Given the description of an element on the screen output the (x, y) to click on. 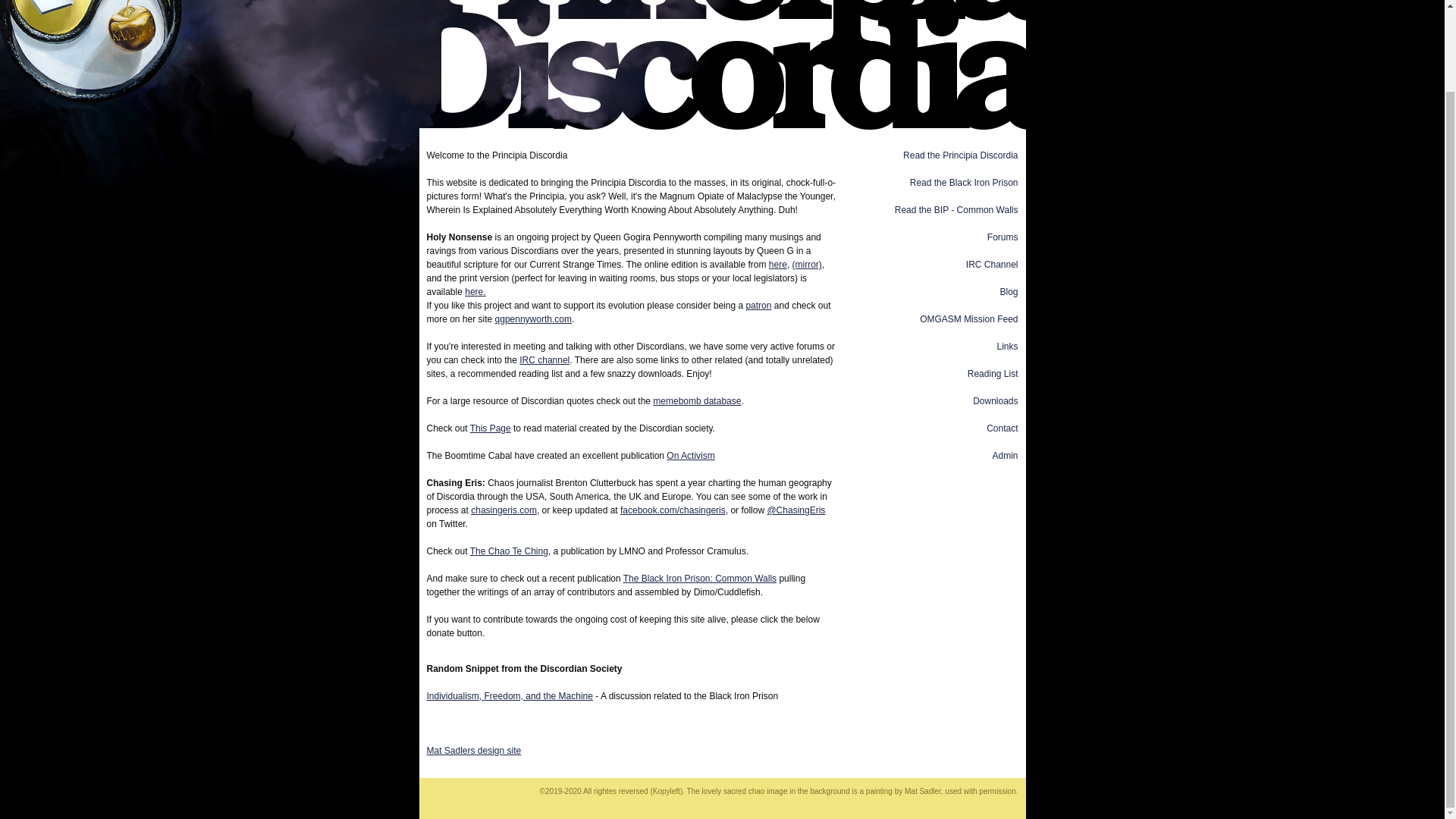
Downloads (994, 400)
The Chao Te Ching (509, 551)
Reading List (992, 373)
here. (474, 291)
here (777, 264)
memebomb database (696, 400)
Links (1006, 346)
Read the BIP - Common Walls (956, 209)
Mat Sadlers design site (473, 757)
Admin (1004, 455)
This Page (490, 428)
qgpennyworth.com (533, 318)
chasingeris.com (503, 510)
IRC Channel (991, 264)
Read the Black Iron Prison (963, 182)
